Given the description of an element on the screen output the (x, y) to click on. 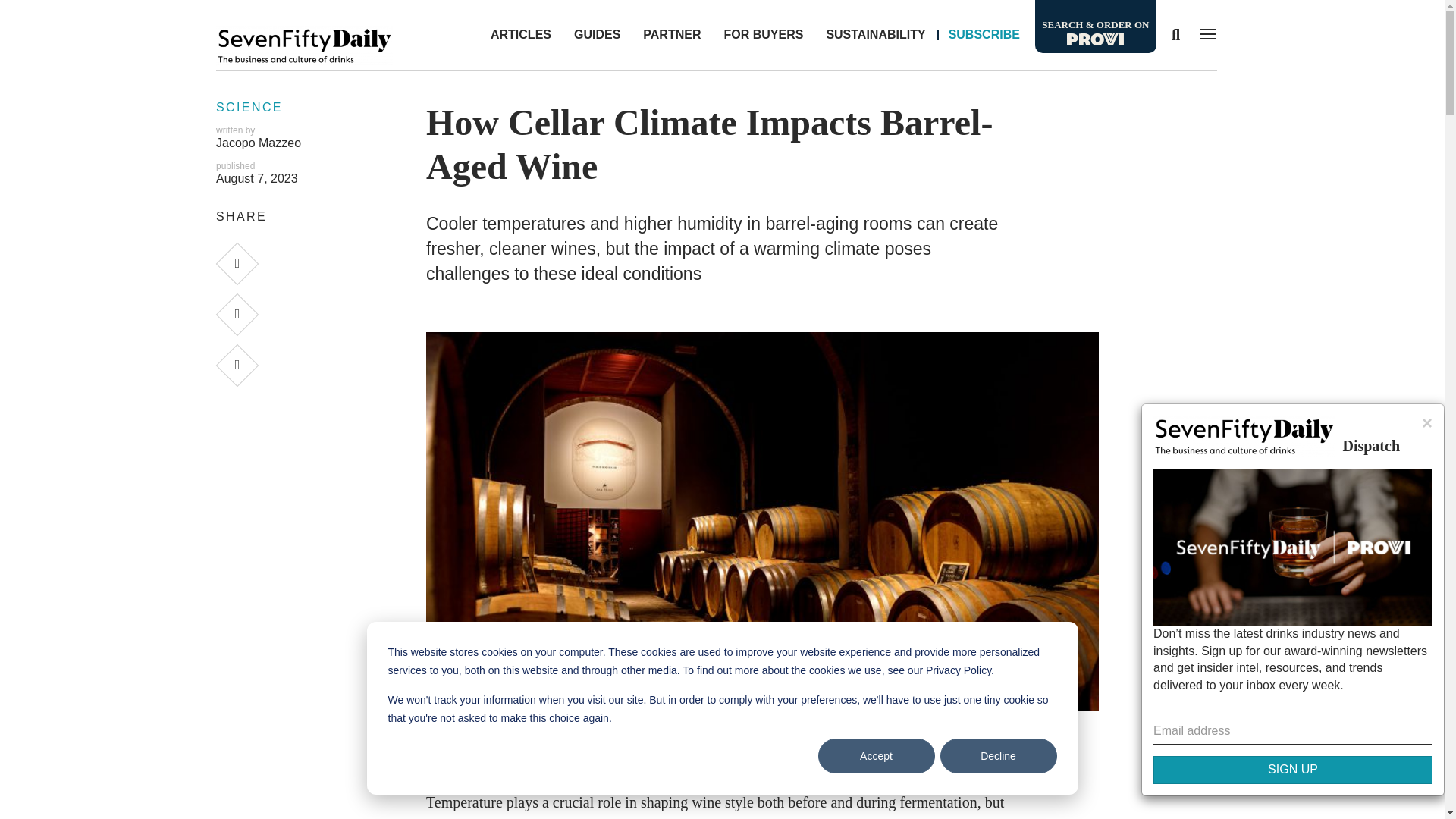
ARTICLES (520, 34)
Guides (596, 34)
SUSTAINABILITY (874, 34)
Partner (671, 34)
FOR BUYERS (762, 34)
SUBSCRIBE (983, 34)
Toggle Menu (1204, 33)
SIGN UP (1292, 769)
GUIDES (596, 34)
SUSTAINABILITY (874, 34)
Subscribe (983, 34)
Articles (520, 34)
For Buyers (762, 34)
PARTNER (671, 34)
